Given the description of an element on the screen output the (x, y) to click on. 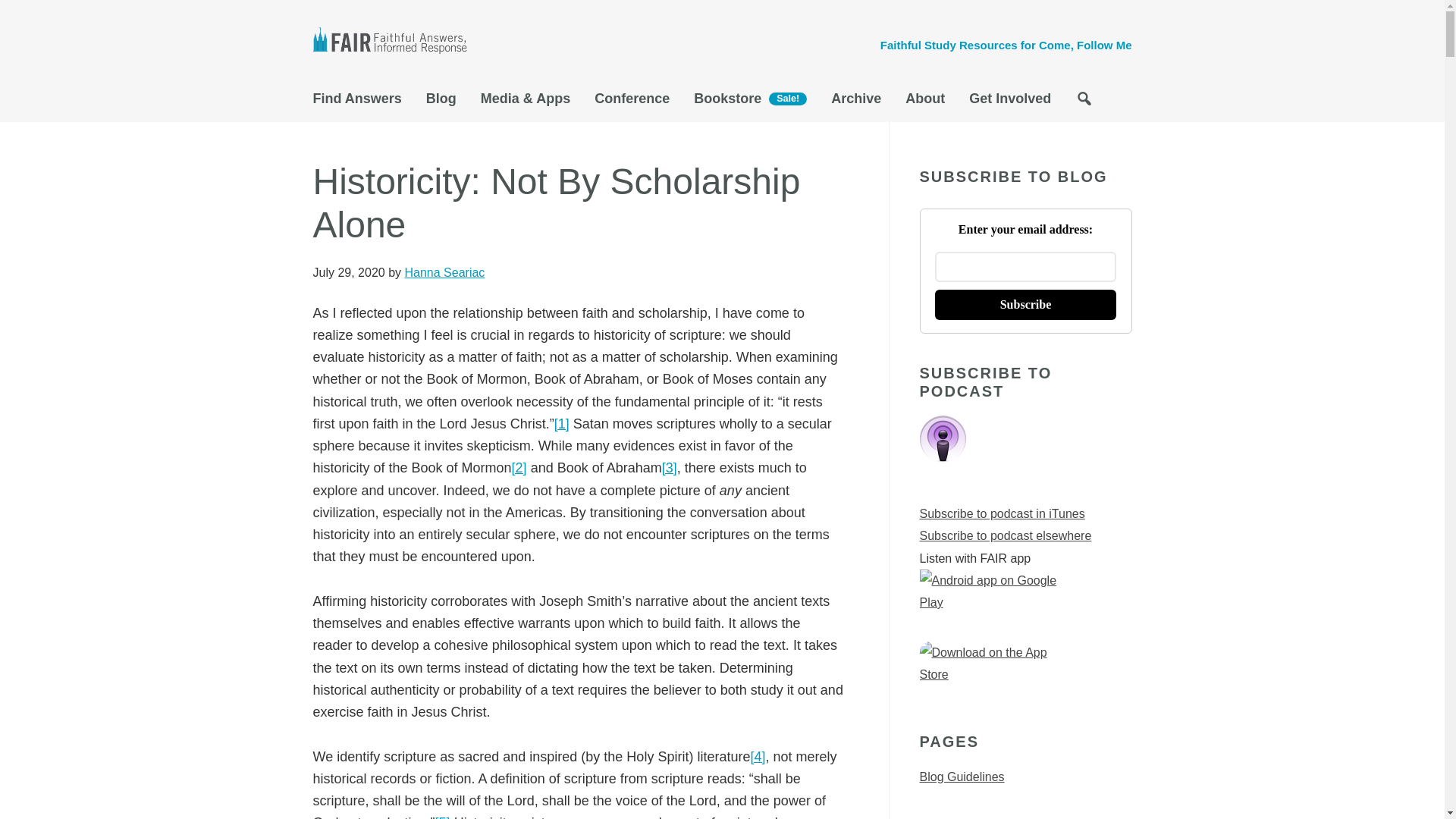
Blog (440, 102)
About (924, 102)
Hanna Seariac (444, 272)
Get Involved (1009, 102)
Find Answers (363, 102)
Faithful Study Resources for Come, Follow Me (1006, 44)
Bookstore (749, 103)
Archive (855, 102)
FAIR (396, 42)
